Given the description of an element on the screen output the (x, y) to click on. 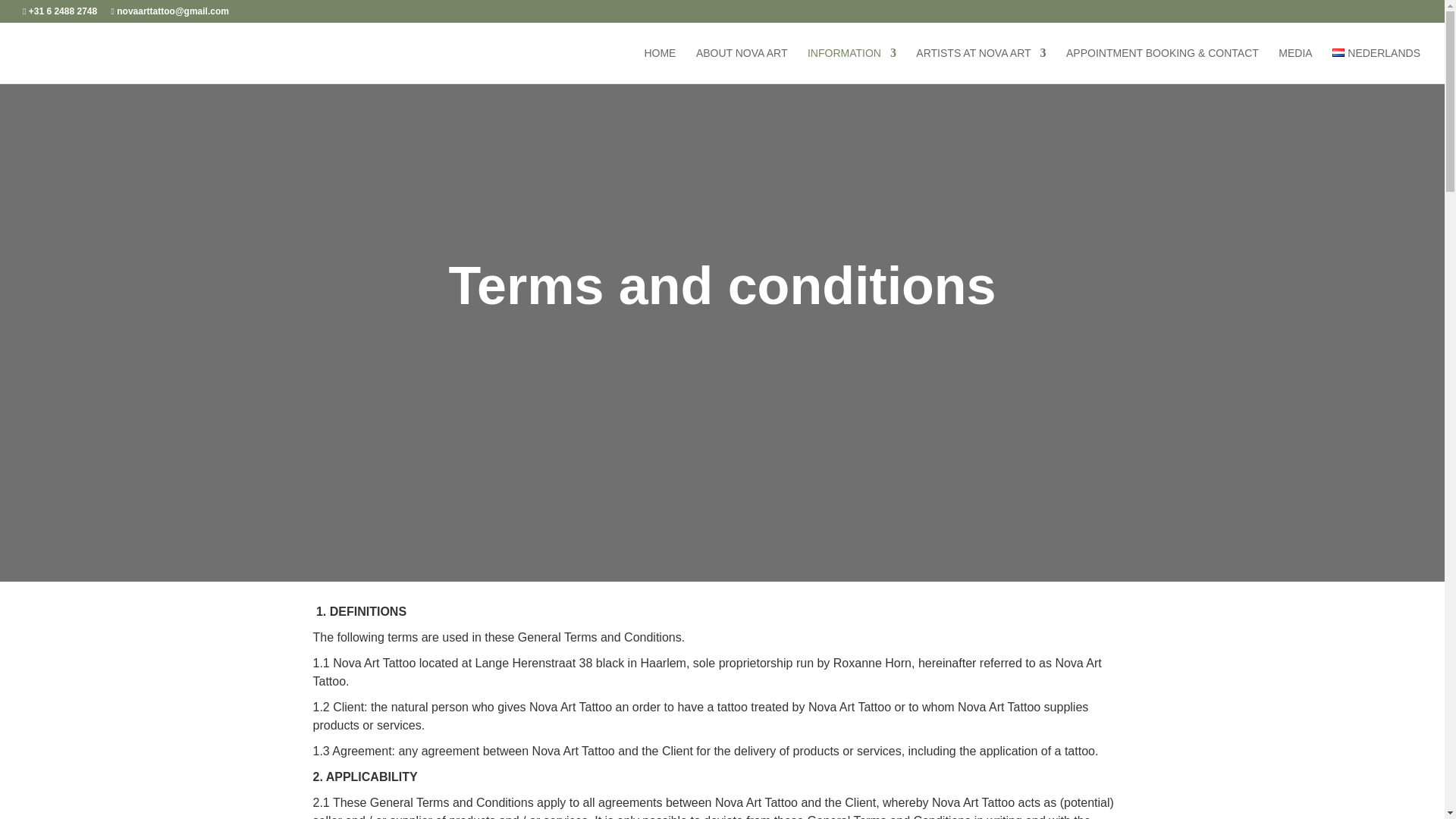
MEDIA (1294, 65)
ARTISTS AT NOVA ART (980, 65)
INFORMATION (852, 65)
HOME (659, 65)
NEDERLANDS (1376, 65)
ABOUT NOVA ART (741, 65)
